Given the description of an element on the screen output the (x, y) to click on. 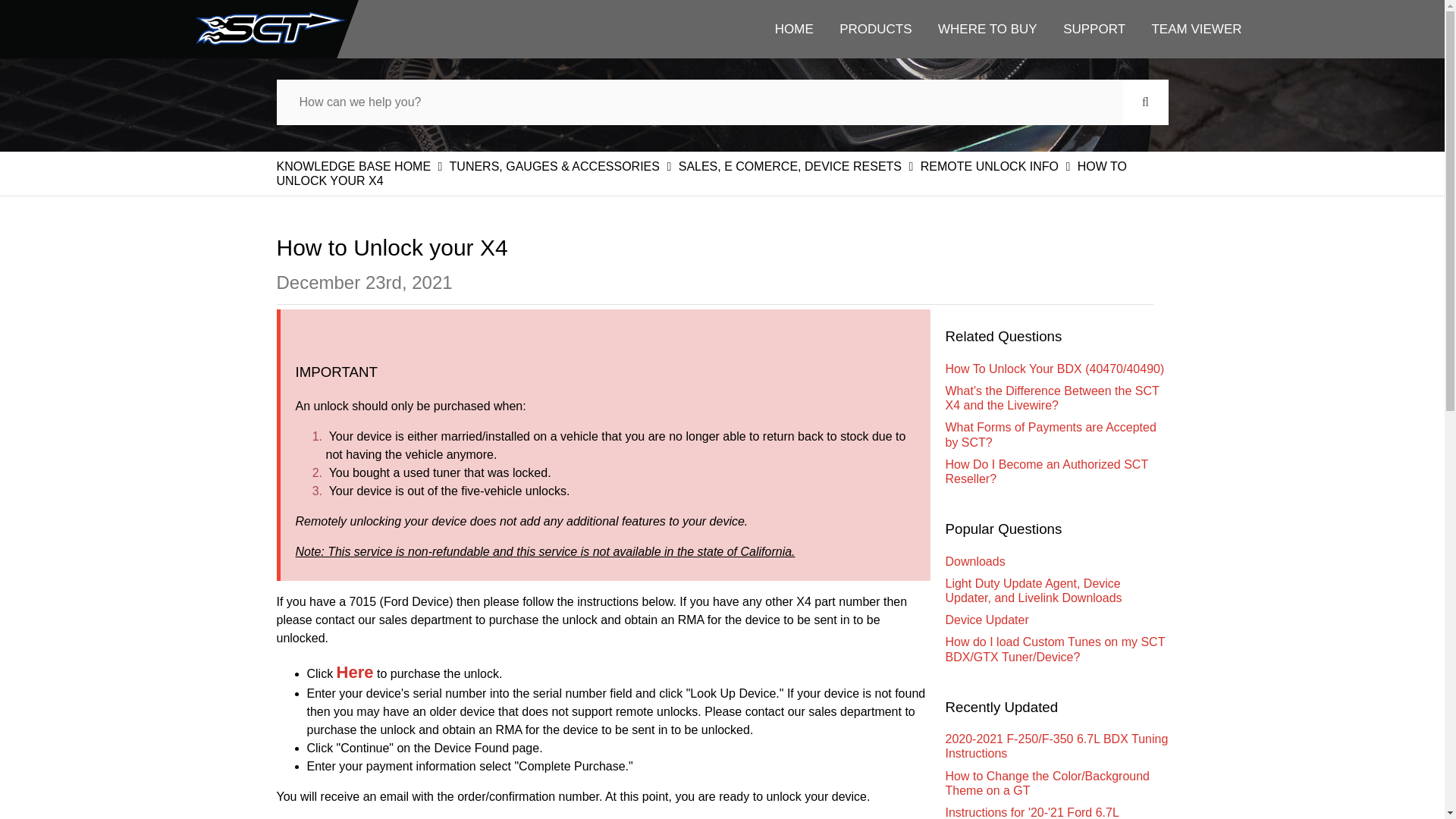
TEAM VIEWER (1196, 28)
What Forms of Payments are Accepted by SCT? (1055, 434)
Downloads (1055, 561)
Here (355, 673)
WHERE TO BUY (986, 28)
PRODUCTS (875, 28)
SUPPORT (1093, 28)
Instructions for '20-'21 Ford 6.7L Powerstroke Tuning (1055, 810)
REMOTE UNLOCK INFO (991, 165)
HOW TO UNLOCK YOUR X4 (700, 173)
